Given the description of an element on the screen output the (x, y) to click on. 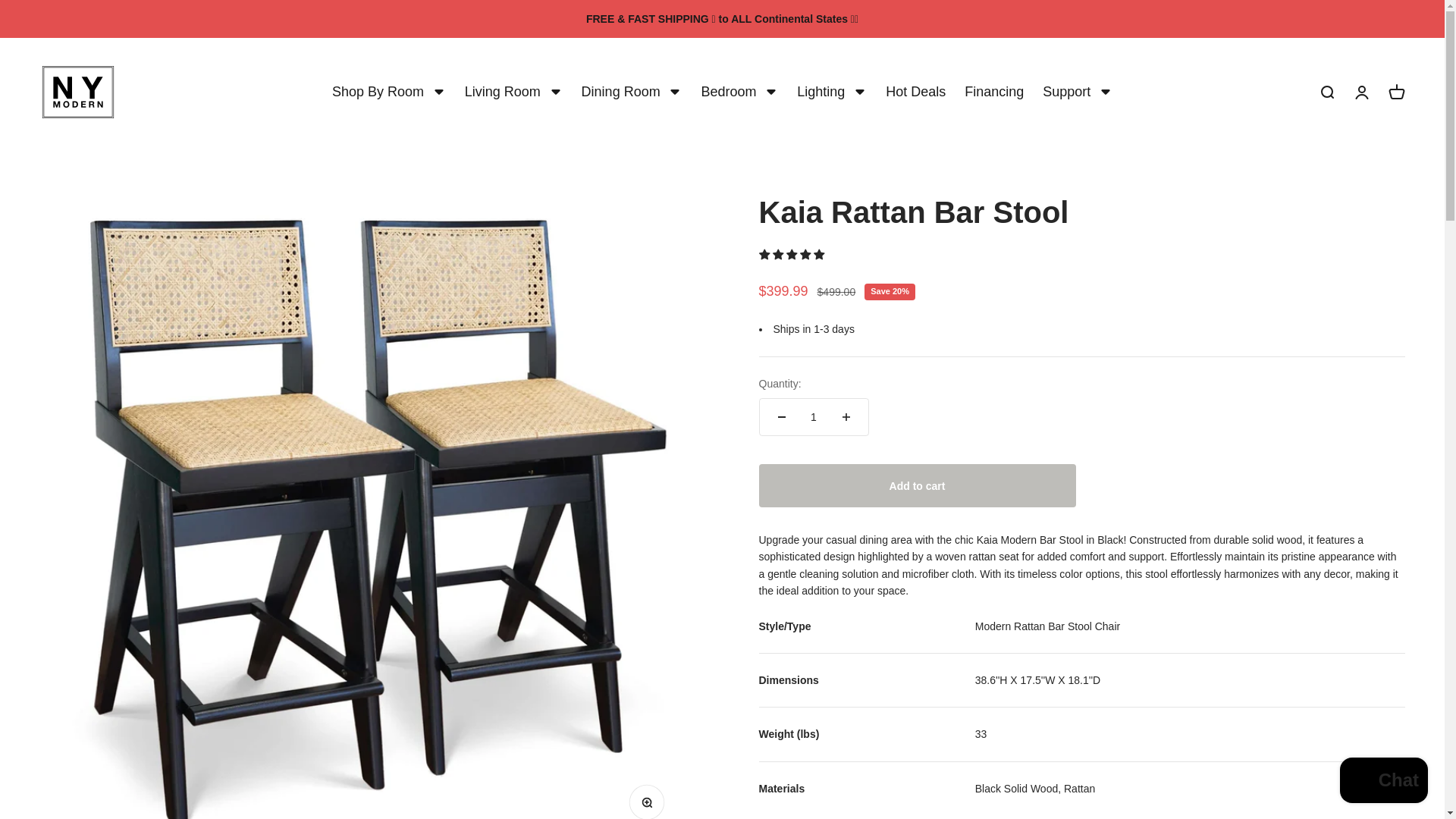
Lighting (831, 92)
Shopify online store chat (1383, 781)
New York Modern Furniture (77, 91)
Open account page (1396, 92)
Shop By Room (1361, 92)
Financing (388, 92)
Dining Room (993, 92)
Open search (631, 92)
Bedroom (1326, 92)
Living Room (738, 92)
Support (513, 92)
Hot Deals (1077, 92)
